Given the description of an element on the screen output the (x, y) to click on. 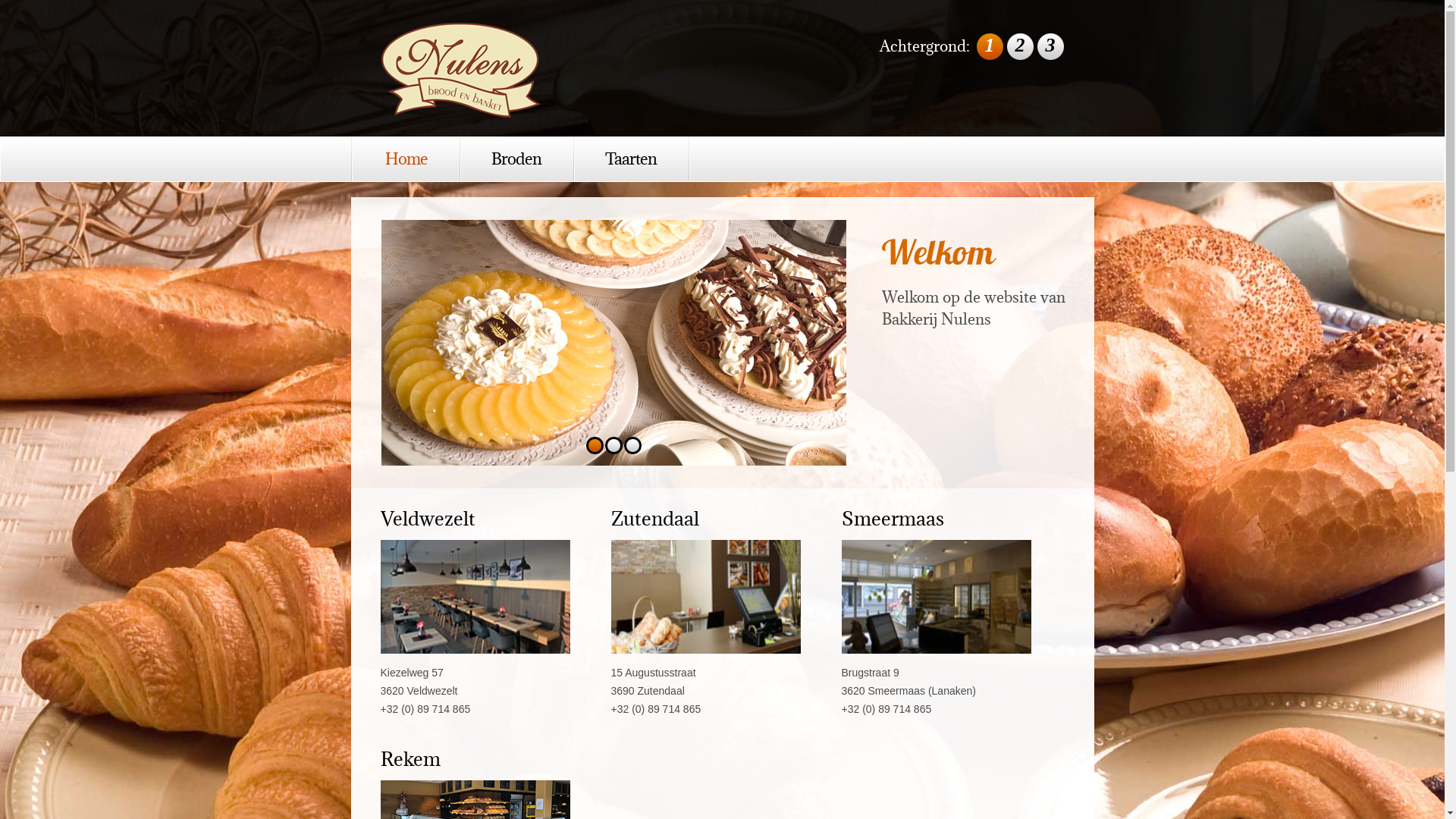
3 Element type: text (1050, 46)
3 Element type: text (631, 445)
2 Element type: text (613, 445)
1 Element type: text (989, 46)
1 Element type: text (593, 445)
Bakkerij Nulens Element type: text (459, 69)
Broden Element type: text (517, 158)
2 Element type: text (1020, 46)
Taarten Element type: text (632, 158)
Home Element type: text (405, 158)
